Given the description of an element on the screen output the (x, y) to click on. 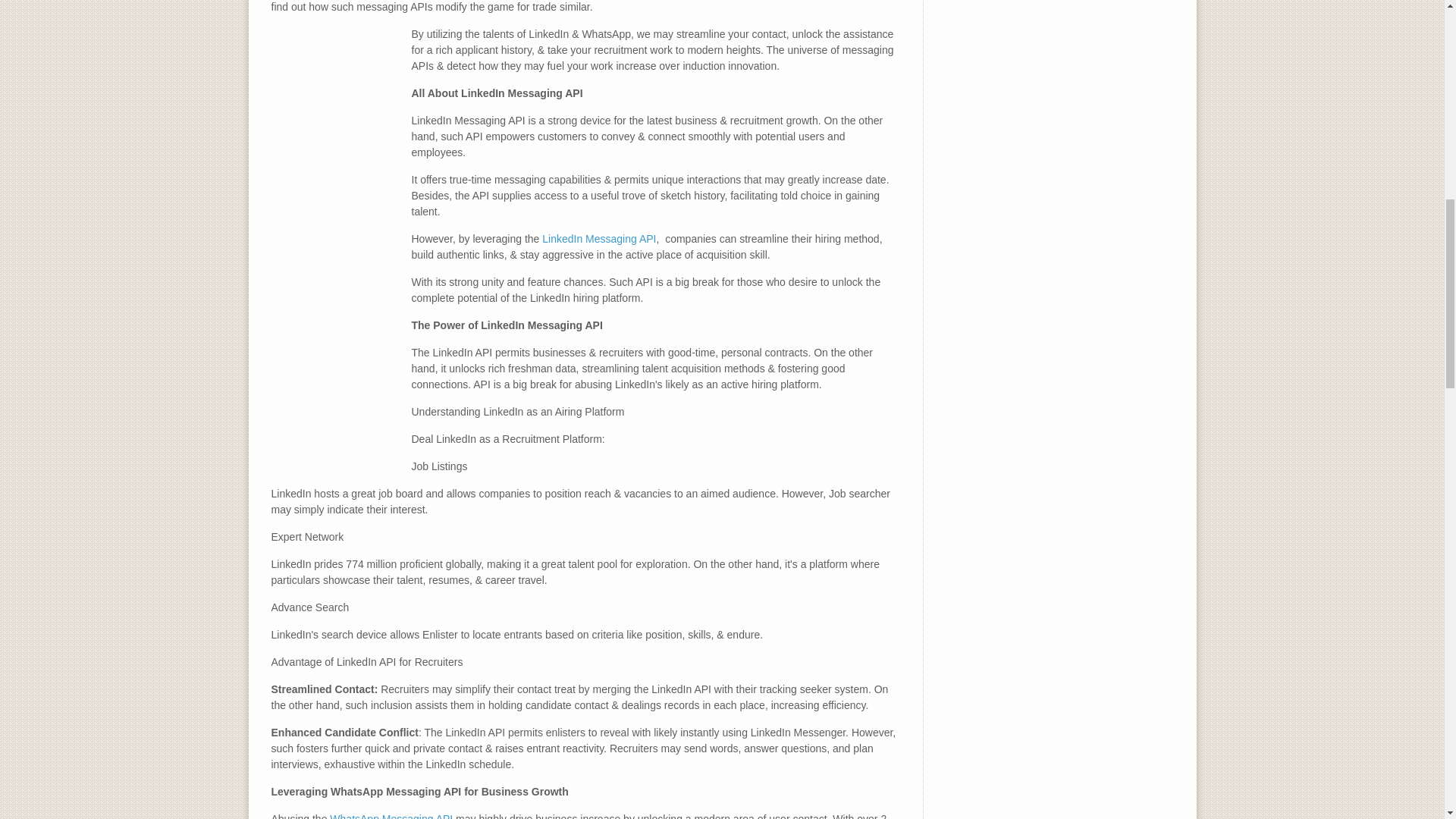
WhatsApp Messaging API (391, 816)
LinkedIn Messaging API (598, 238)
